Given the description of an element on the screen output the (x, y) to click on. 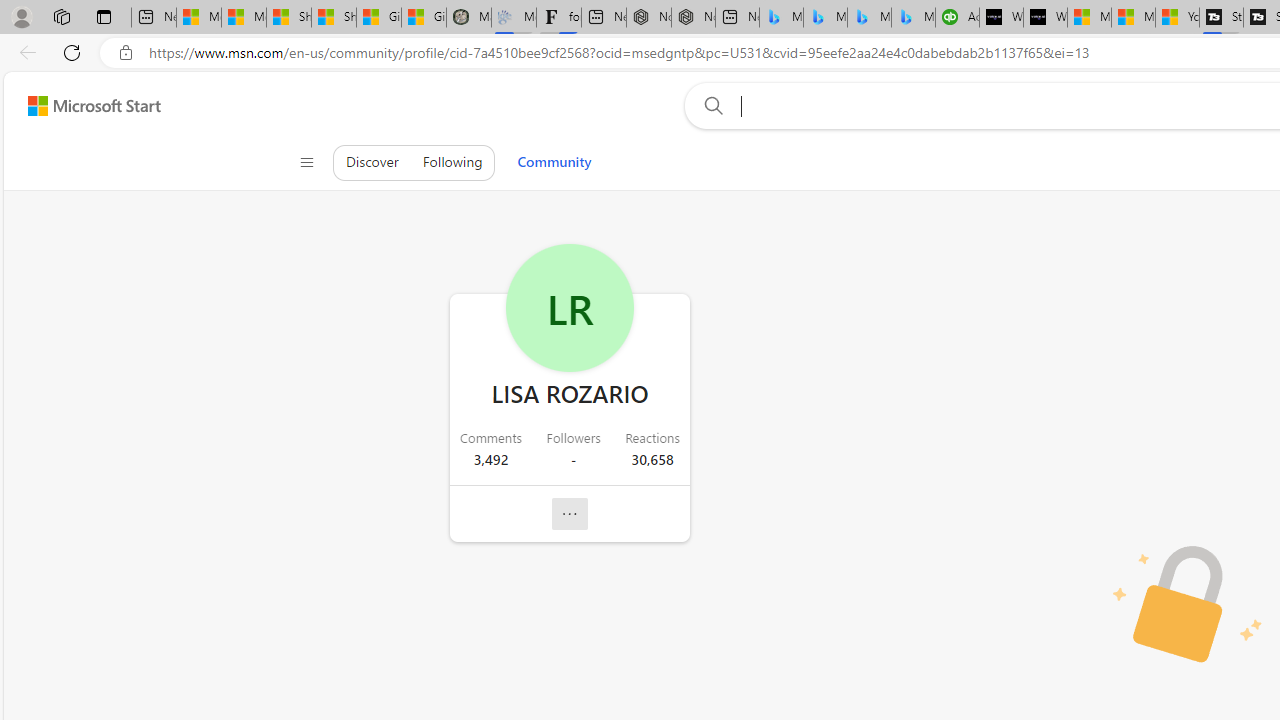
Community (554, 162)
Shanghai, China weather forecast | Microsoft Weather (333, 17)
Report profile (569, 513)
Microsoft Bing Travel - Shangri-La Hotel Bangkok (913, 17)
Private profile picture (1188, 605)
Class: control icon-only (306, 162)
Microsoft Bing Travel - Stays in Bangkok, Bangkok, Thailand (825, 17)
